Given the description of an element on the screen output the (x, y) to click on. 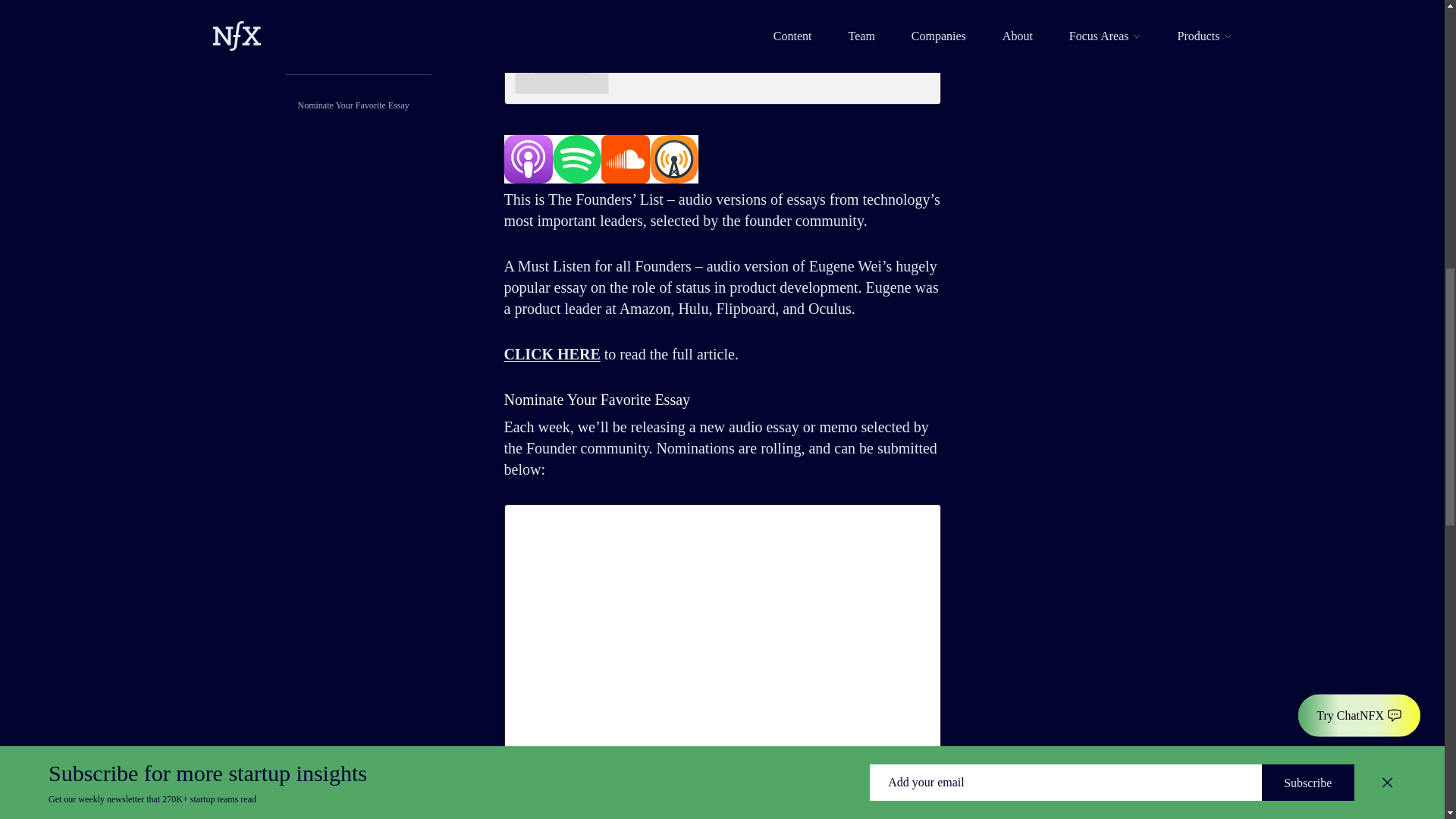
Apple-Podcasts (527, 159)
SoundCloud (624, 159)
Spotify (575, 159)
Overcast (673, 159)
Nominate Your Favorite Essay (353, 104)
